Given the description of an element on the screen output the (x, y) to click on. 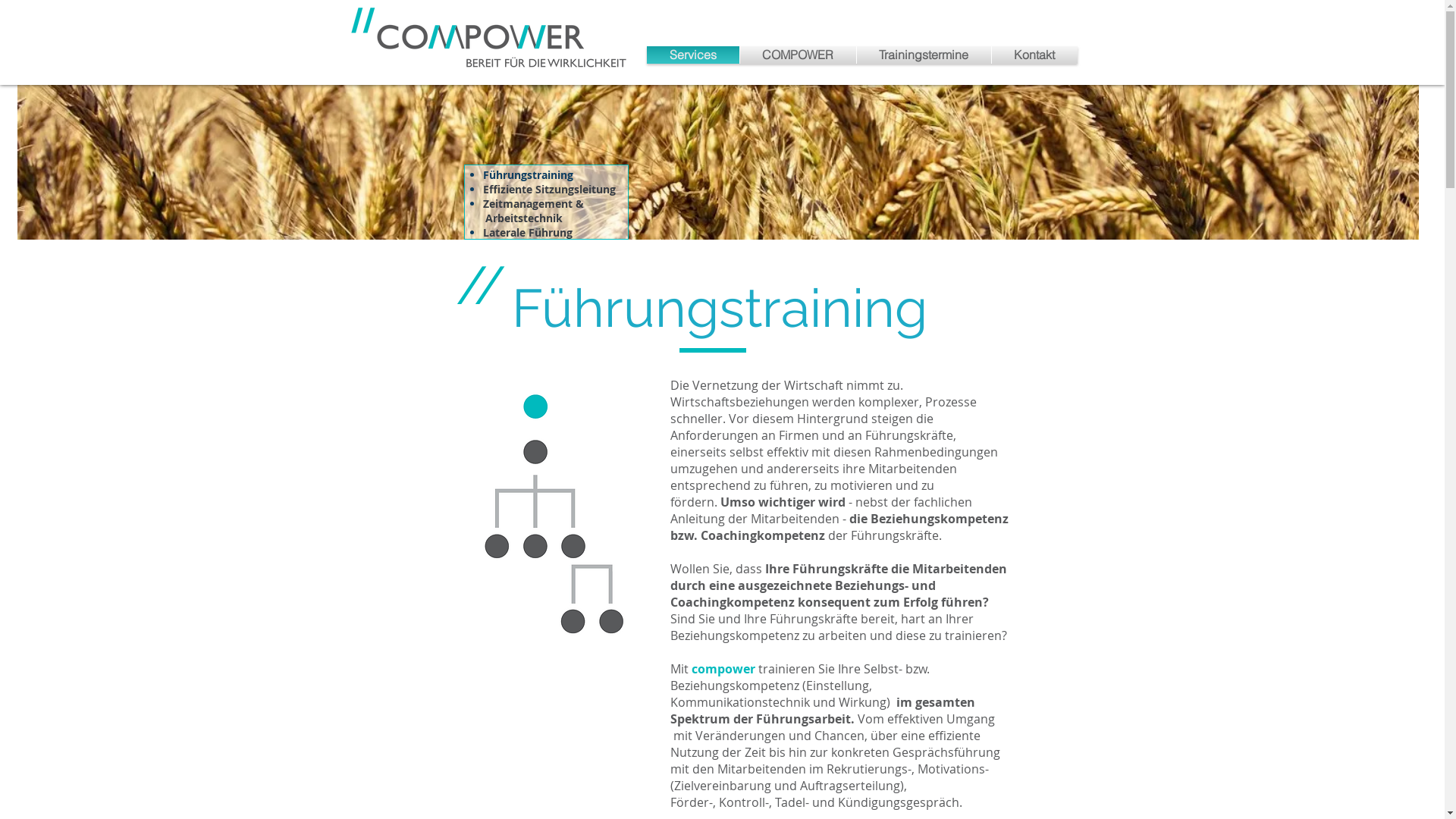
       Arbeitstechnik Element type: text (513, 217)
Effiziente Sitzungsleitung Element type: text (549, 189)
Zeitmanagement & Element type: text (533, 203)
Services Element type: text (692, 54)
Kontakt Element type: text (1034, 54)
compower Element type: text (723, 668)
COMPOWER Element type: text (798, 54)
Trainingstermine Element type: text (923, 54)
